Given the description of an element on the screen output the (x, y) to click on. 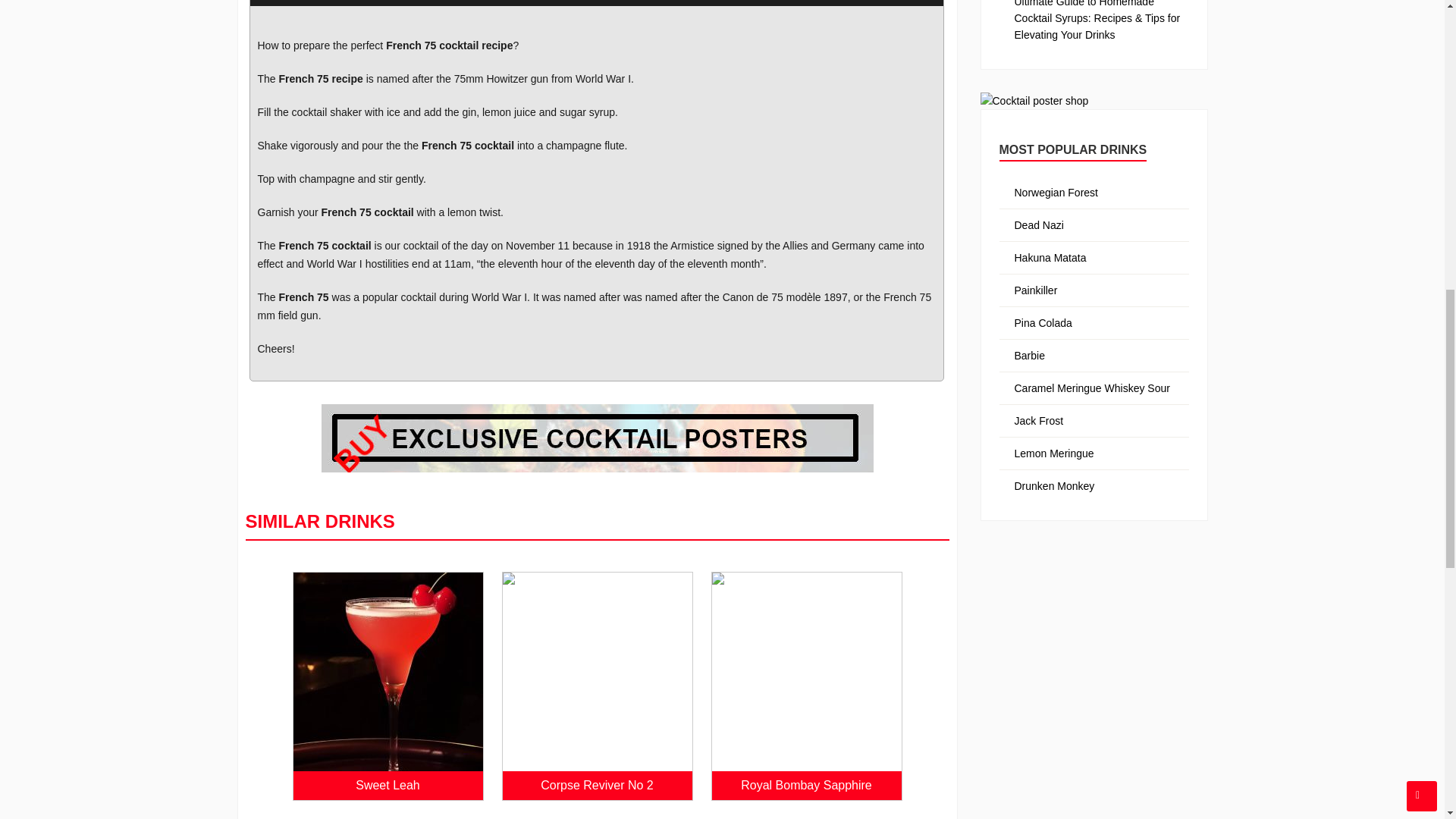
Corpse Reviver No 2 (596, 785)
Royal Bombay Sapphire (806, 785)
Sweet Leah (386, 785)
